Given the description of an element on the screen output the (x, y) to click on. 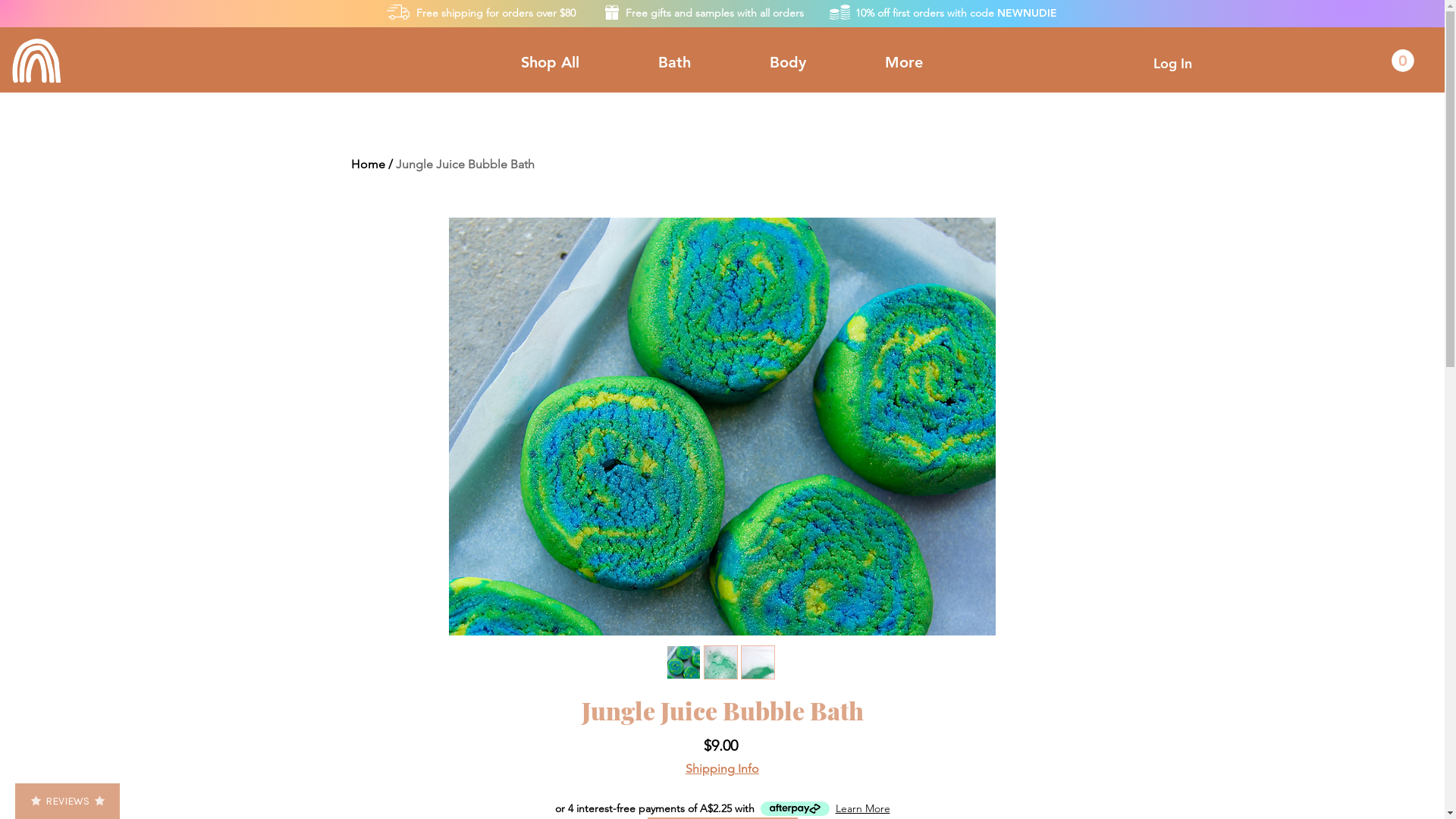
Jungle Juice Bubble Bath Element type: text (464, 163)
Home Element type: text (367, 163)
Learn More Element type: text (862, 807)
Shipping Info Element type: text (722, 768)
home Element type: hover (36, 59)
0 Element type: text (1402, 60)
Log In Element type: text (1171, 63)
Shop All Element type: text (549, 61)
